Given the description of an element on the screen output the (x, y) to click on. 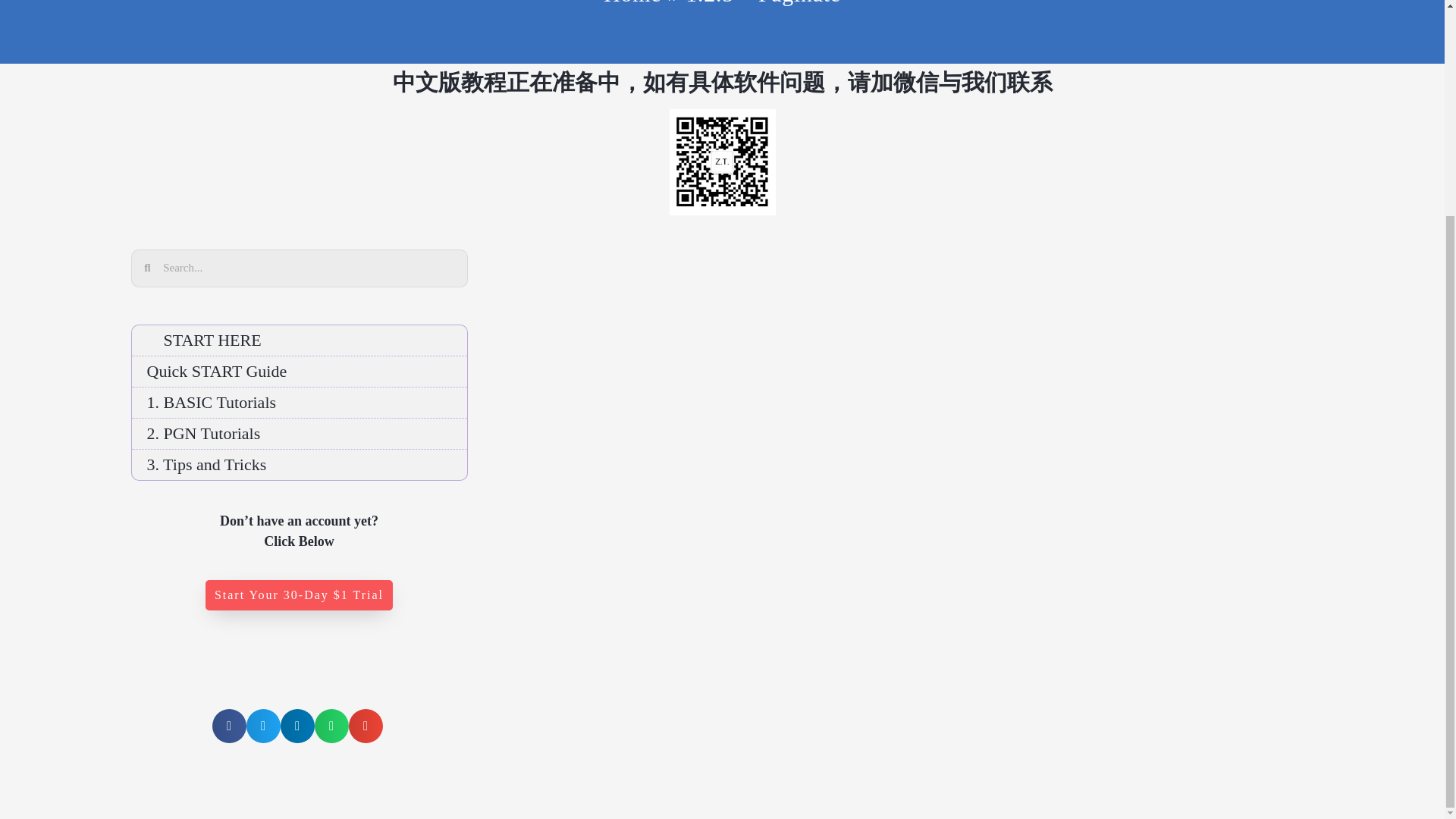
Home (632, 2)
    START HERE (299, 339)
1. BASIC Tutorials (299, 401)
Search (307, 268)
Quick START Guide (299, 371)
